Given the description of an element on the screen output the (x, y) to click on. 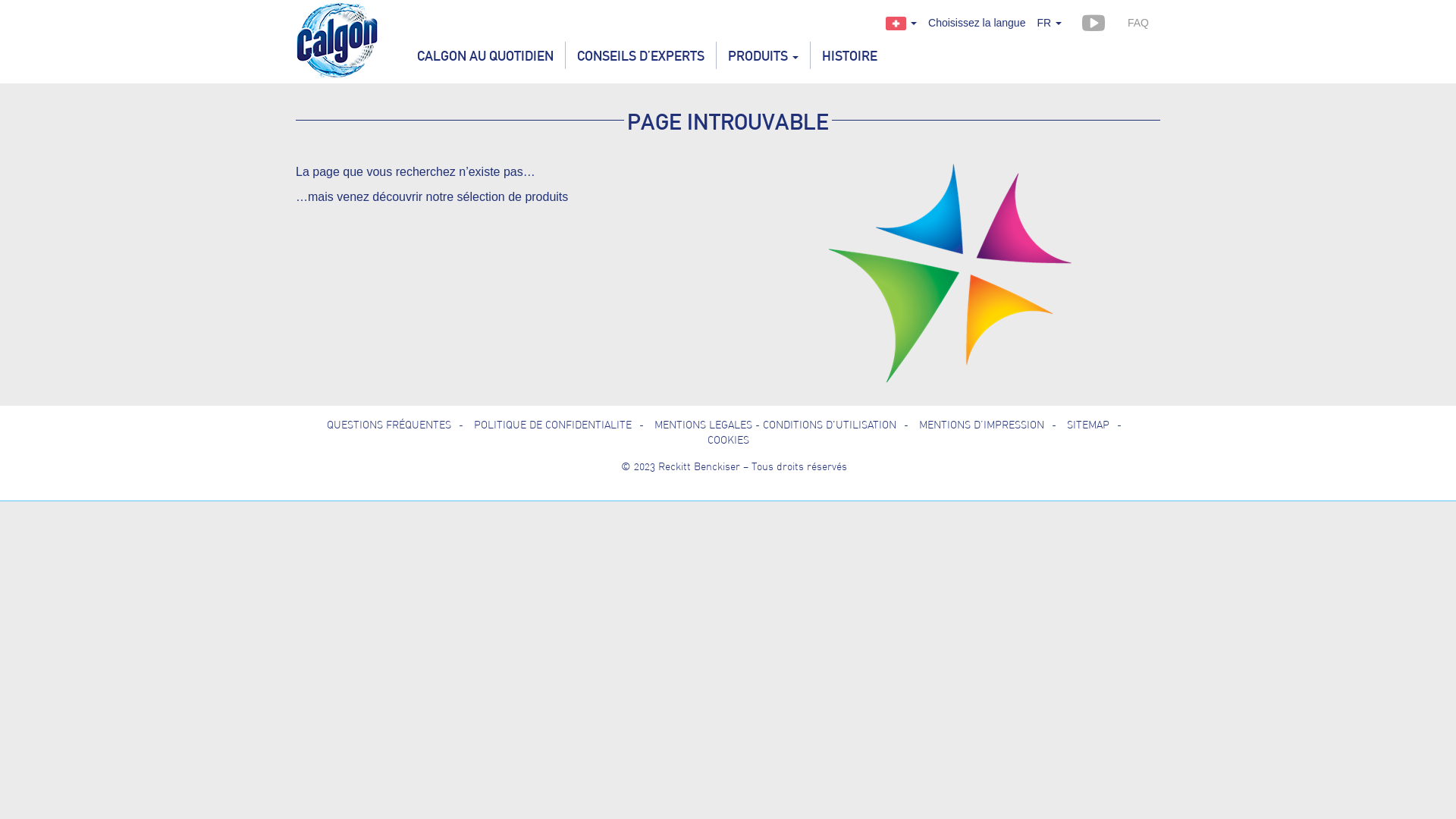
MENTIONS LEGALES - CONDITIONS D'UTILISATION Element type: text (785, 424)
produits Element type: text (545, 196)
FR Element type: text (1049, 22)
FAQ Element type: text (1138, 22)
CALGON AU QUOTIDIEN Element type: text (484, 55)
HISTOIRE Element type: text (849, 55)
COOKIES Element type: text (727, 439)
SITEMAP Element type: text (1097, 424)
POLITIQUE DE CONFIDENTIALITE Element type: text (562, 424)
Home Element type: text (337, 38)
PRODUITS Element type: text (762, 55)
https://www.youtube.com/channel/UC-rO1YakUlRwoHvtHs4E0kw Element type: text (1093, 22)
